Given the description of an element on the screen output the (x, y) to click on. 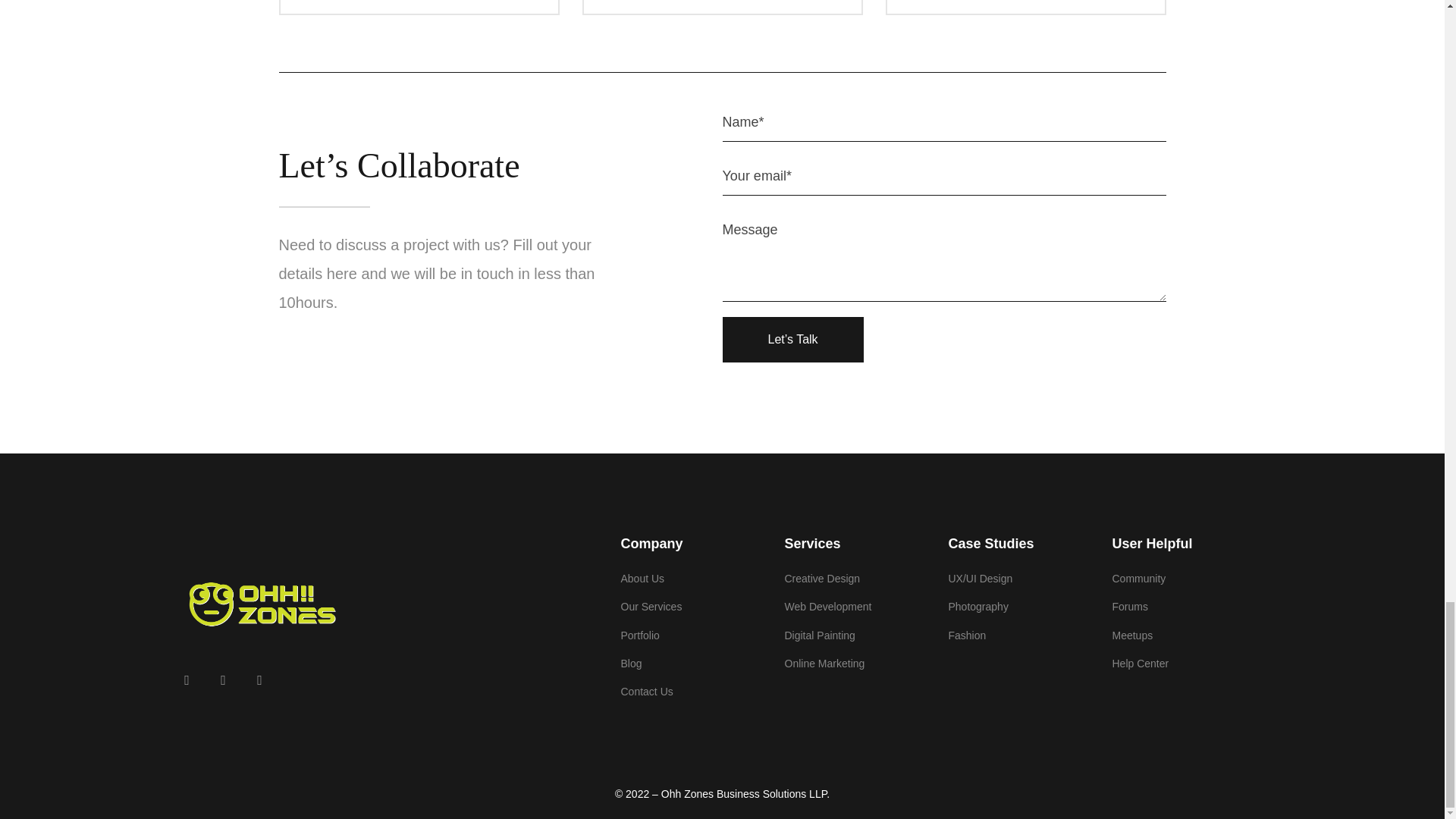
Portfolio (694, 635)
About Us (694, 578)
Our Services (694, 606)
